Given the description of an element on the screen output the (x, y) to click on. 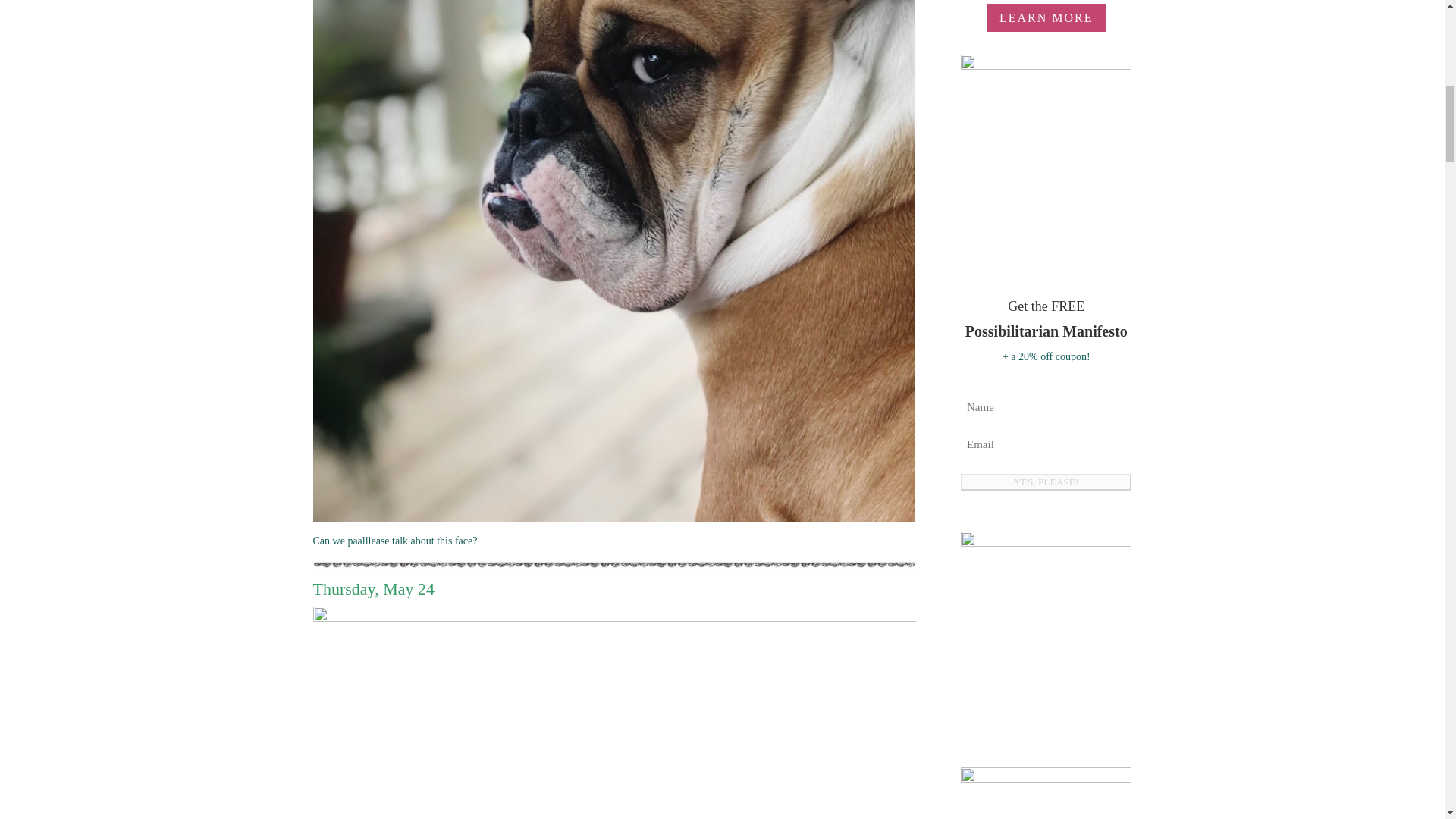
YES, PLEASE! (1045, 482)
YES, PLEASE! (1045, 482)
LEARN MORE (1046, 17)
Shop (1045, 793)
